Given the description of an element on the screen output the (x, y) to click on. 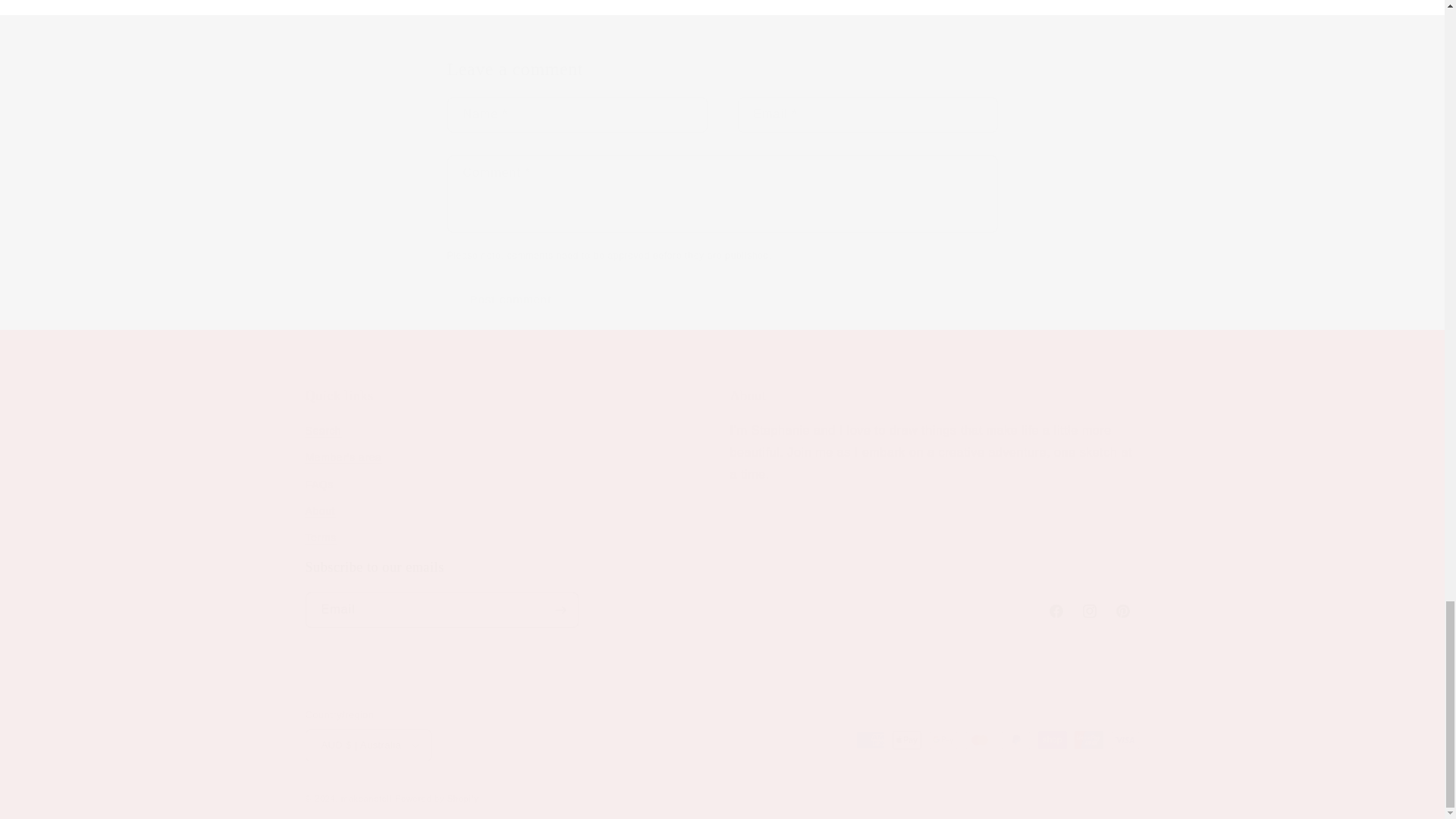
Post comment (509, 469)
